Given the description of an element on the screen output the (x, y) to click on. 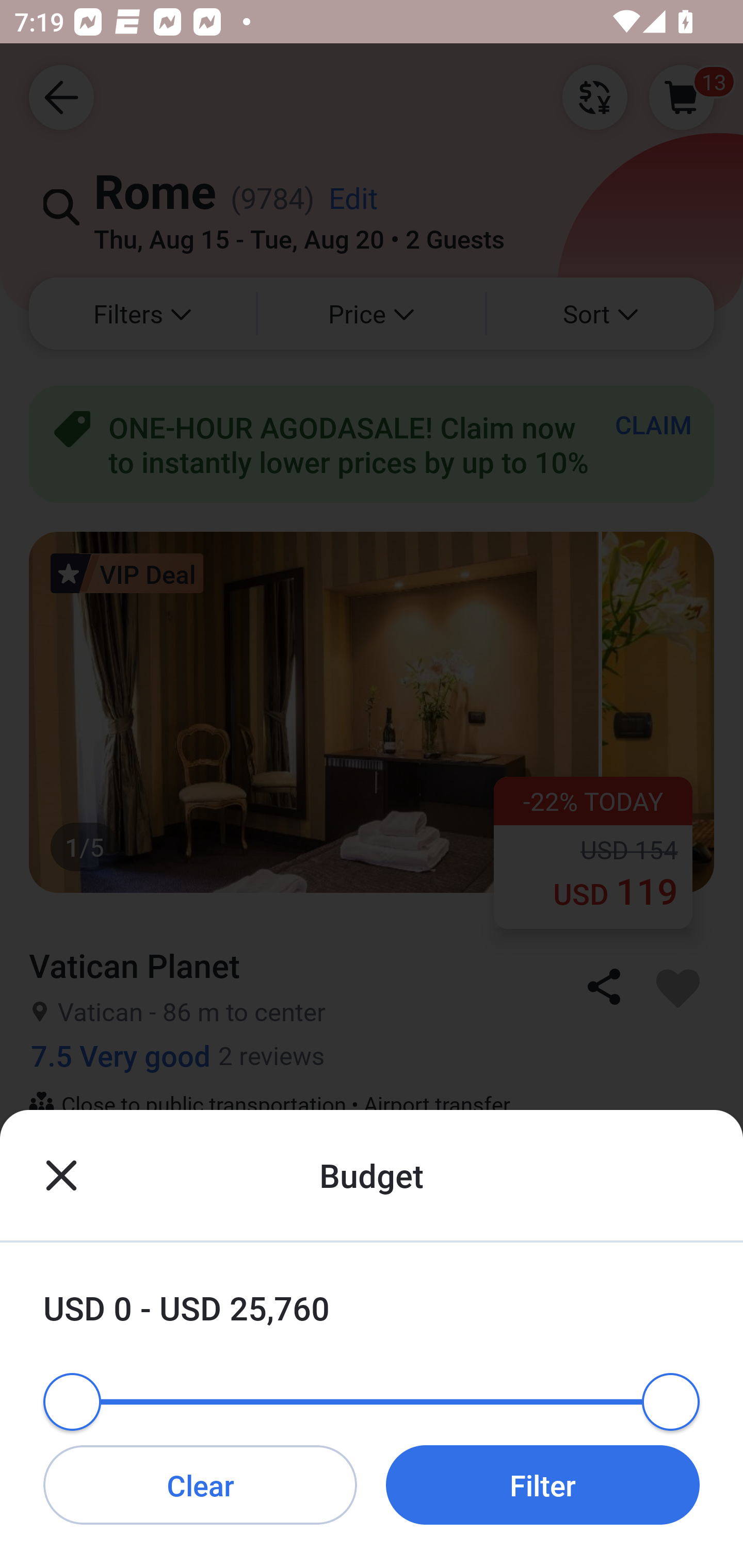
Free cancellation (371, 1169)
1/5 (371, 1415)
Clear (200, 1484)
Filter (542, 1484)
